Given the description of an element on the screen output the (x, y) to click on. 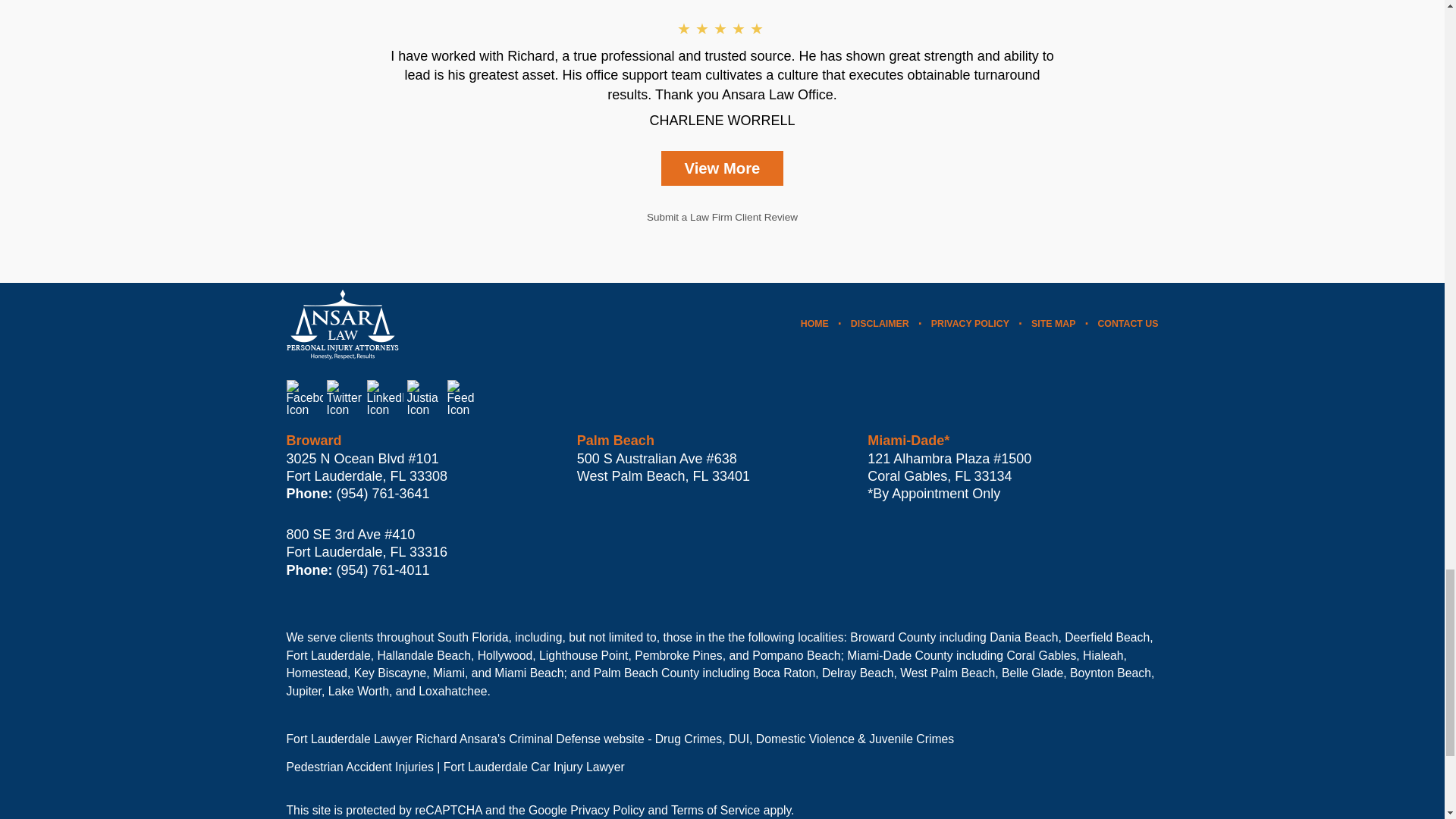
Facebook (304, 398)
Justia (424, 398)
Feed (464, 398)
Twitter (344, 398)
LinkedIn (384, 398)
